Given the description of an element on the screen output the (x, y) to click on. 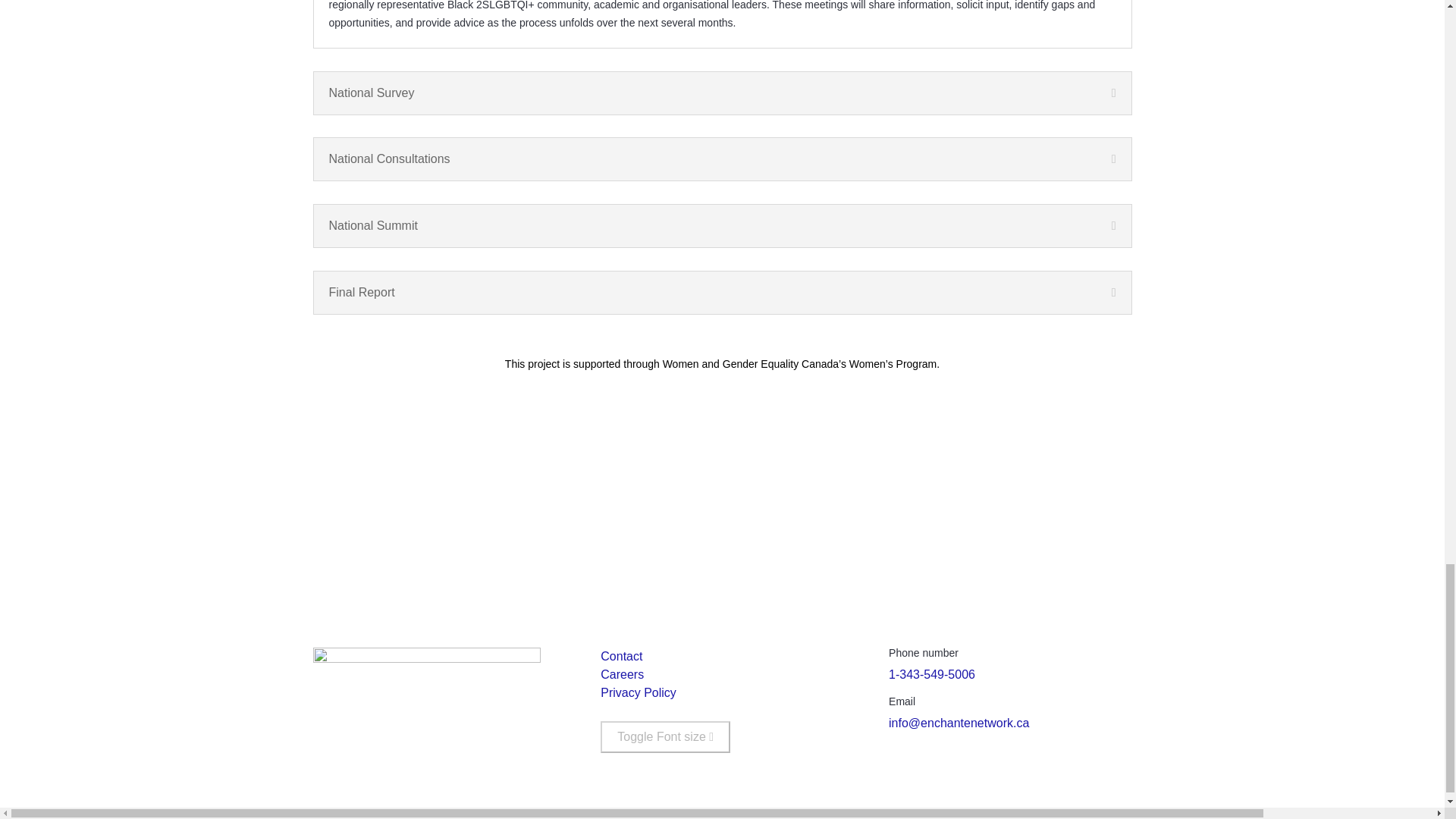
Toggle Font size (664, 736)
Privacy Policy (638, 692)
Careers (621, 674)
1-343-549-5006 (931, 674)
Contact (620, 656)
